Given the description of an element on the screen output the (x, y) to click on. 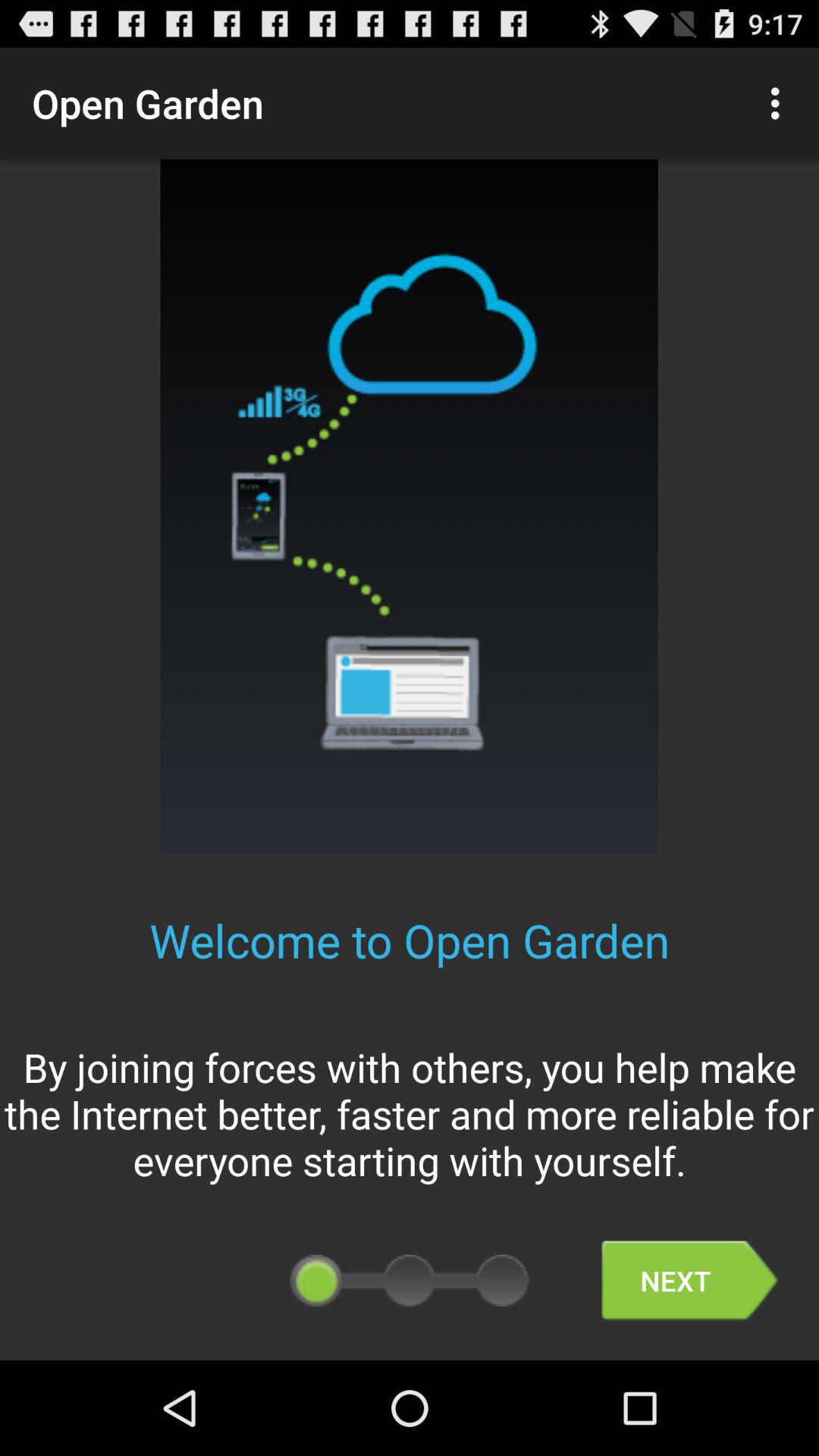
turn on the app below the by joining forces (689, 1280)
